Given the description of an element on the screen output the (x, y) to click on. 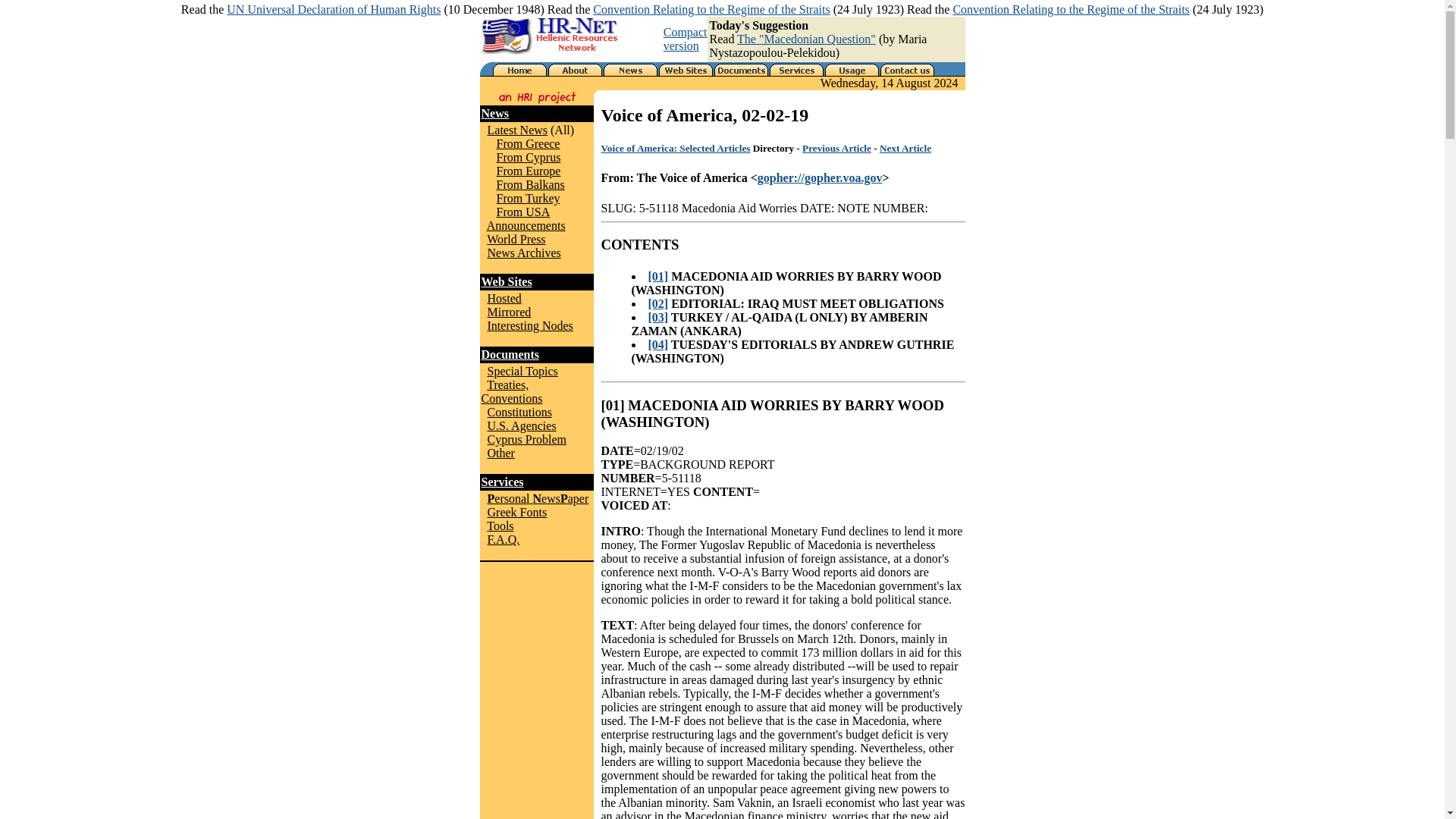
Hosted (503, 297)
Compact version (685, 38)
Interesting Nodes (529, 325)
From USA (523, 211)
World Press (515, 238)
News Archives (523, 252)
UN Universal Declaration of Human Rights (334, 9)
Announcements (526, 225)
From Europe (528, 170)
The "Macedonian Question" (806, 38)
